Given the description of an element on the screen output the (x, y) to click on. 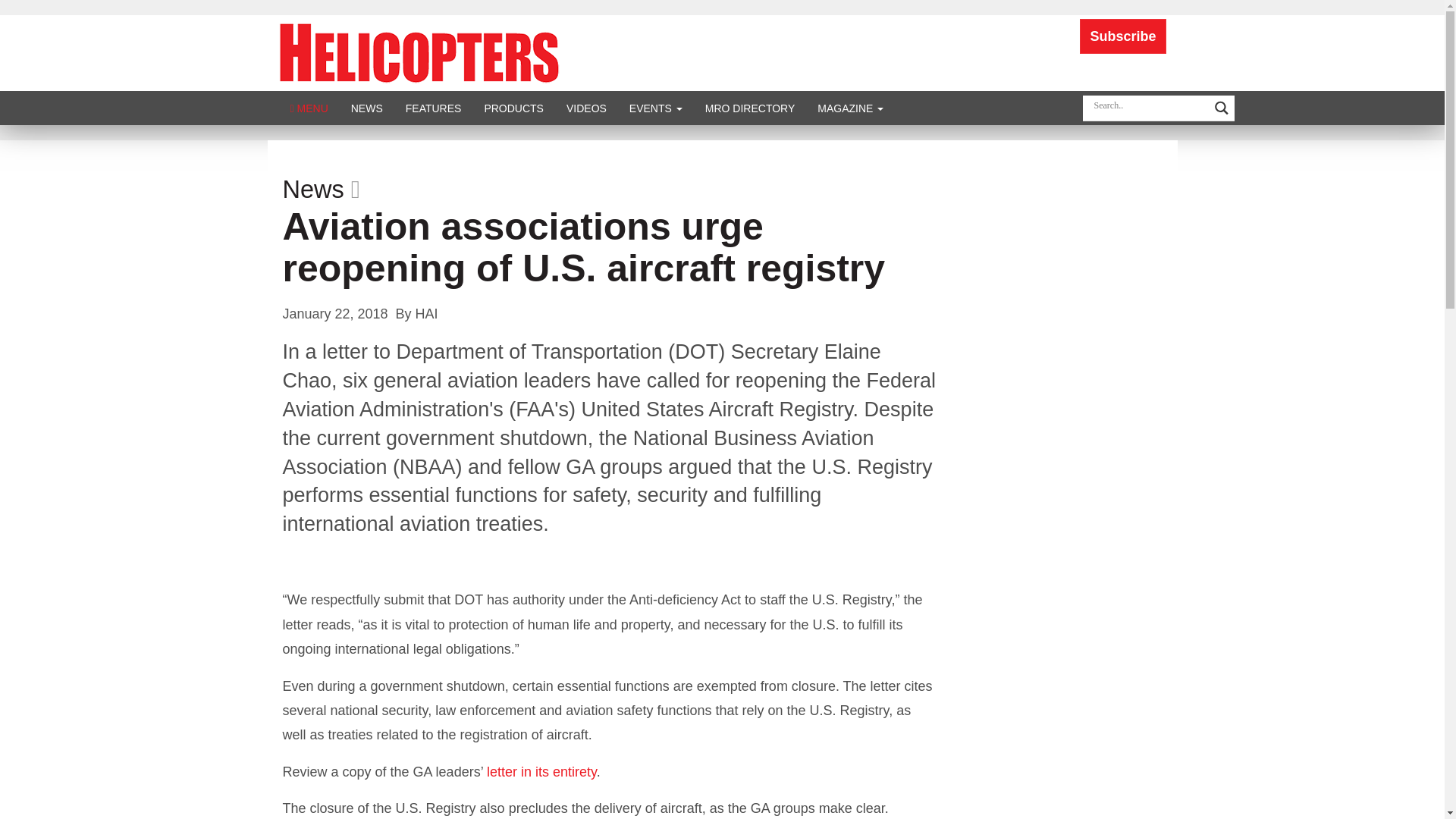
FEATURES (433, 107)
VIDEOS (585, 107)
PRODUCTS (512, 107)
MENU (309, 107)
Click to show site navigation (309, 107)
EVENTS (655, 107)
MRO DIRECTORY (750, 107)
Helicopters Magazine (419, 52)
MAGAZINE (850, 107)
NEWS (366, 107)
Subscribe (1123, 36)
